Given the description of an element on the screen output the (x, y) to click on. 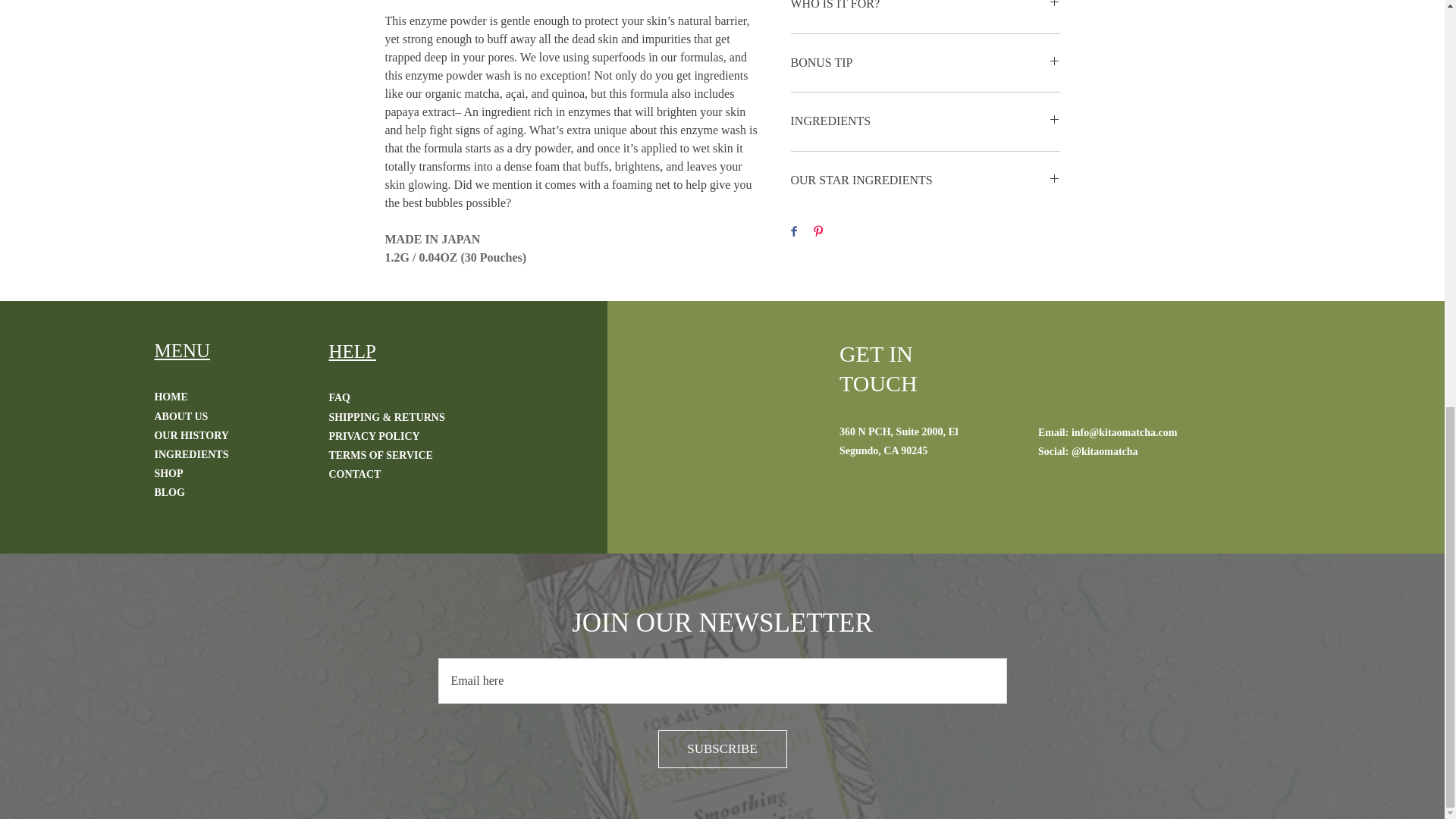
SUBSCRIBE (722, 749)
WHO IS IT FOR? (924, 7)
OUR STAR INGREDIENTS (924, 180)
INGREDIENTS (924, 121)
HOME (170, 396)
BONUS TIP (924, 63)
SHOP (168, 473)
ABOUT US (181, 416)
OUR HISTORY (191, 435)
